Given the description of an element on the screen output the (x, y) to click on. 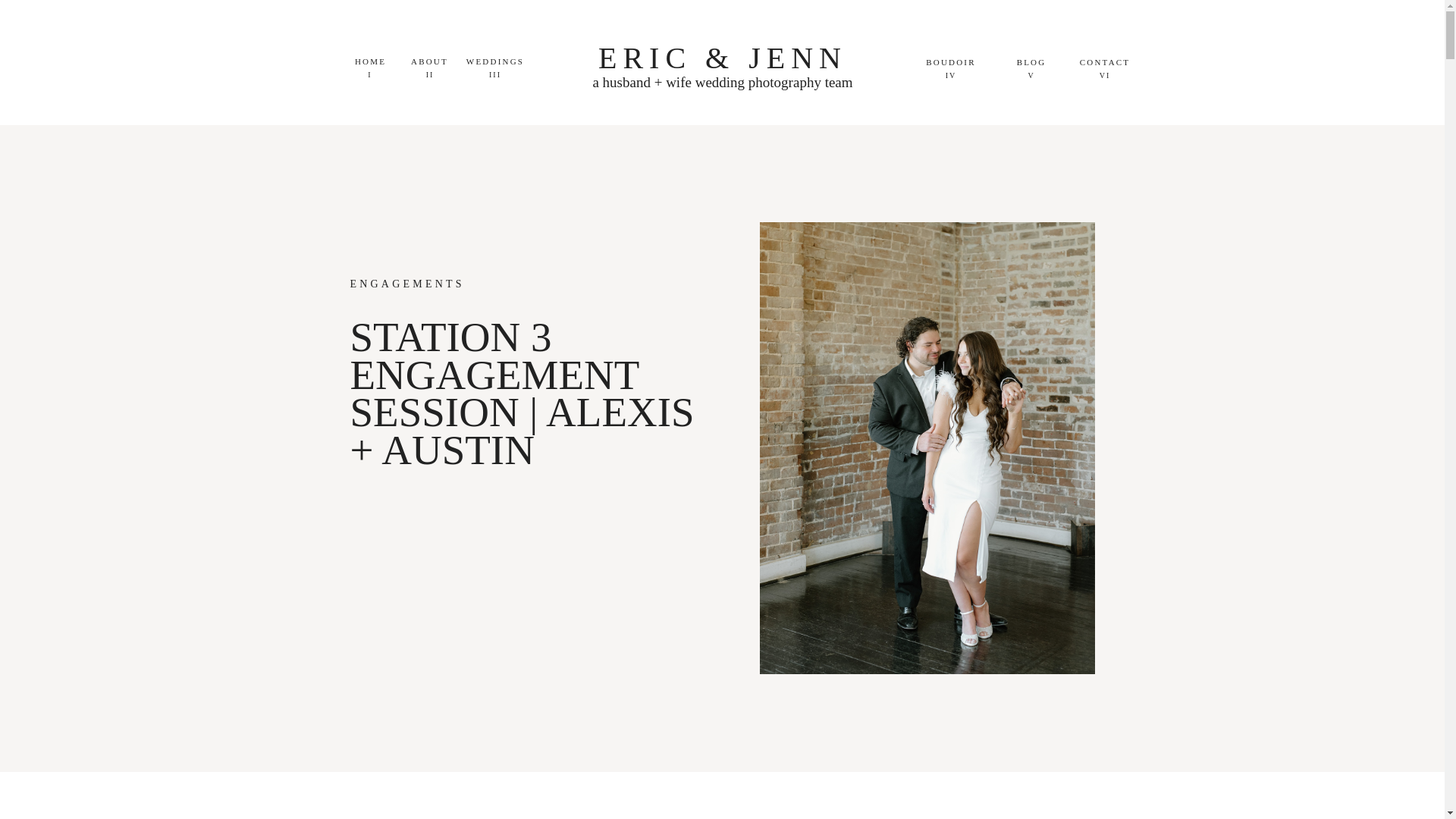
BLOG (1031, 61)
BOUDOIR (951, 61)
ENGAGEMENTS (407, 283)
CONTACT (1104, 61)
WEDDINGS (495, 61)
ABOUT (429, 61)
HOME (370, 61)
